Given the description of an element on the screen output the (x, y) to click on. 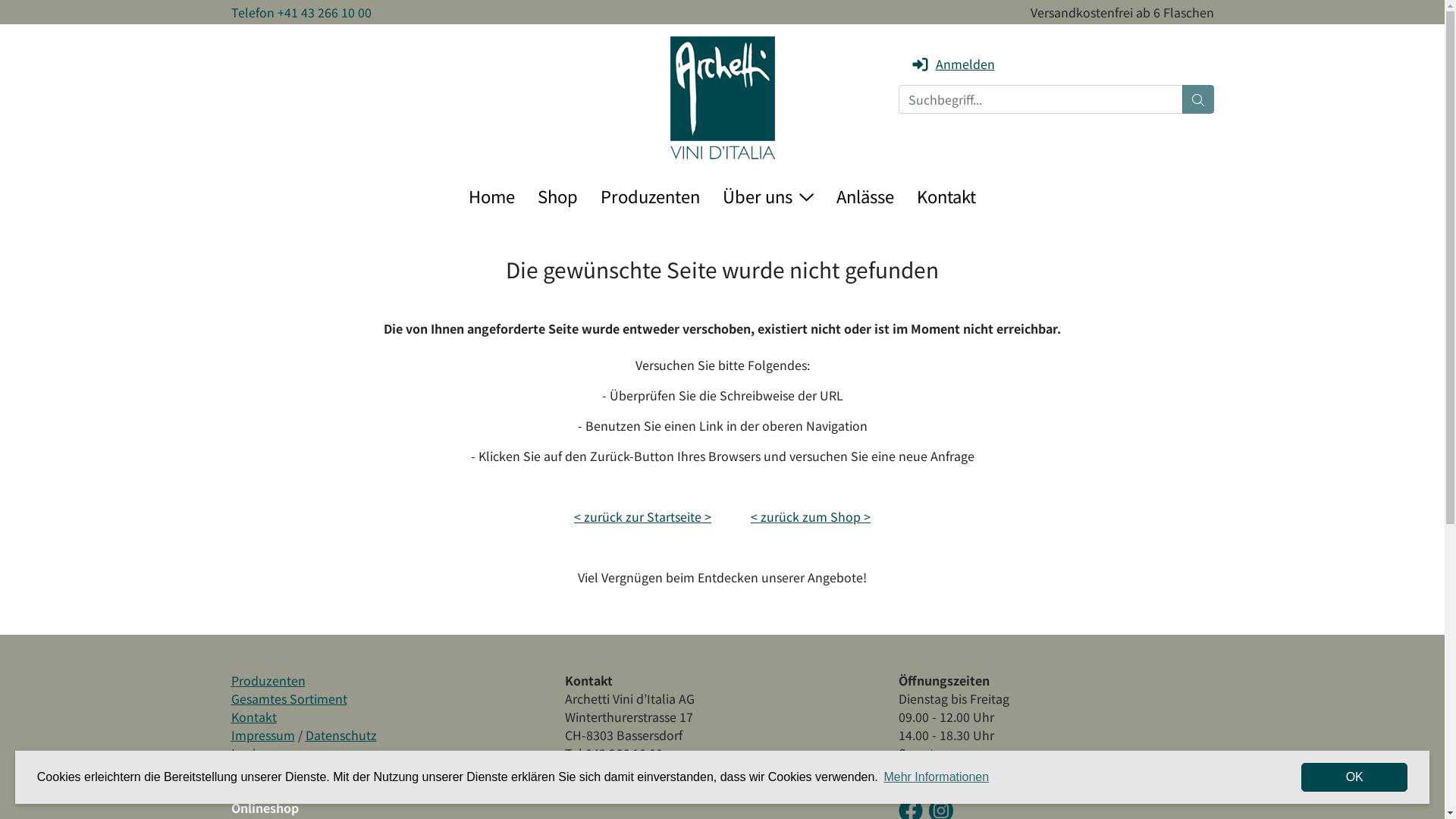
Kontakt Element type: text (253, 716)
OK Element type: text (1354, 776)
Gesamtes Sortiment Element type: text (288, 698)
Kontakt Element type: text (946, 195)
Datenschutz Element type: text (340, 734)
Mehr Informationen Element type: text (936, 776)
Login Element type: text (246, 752)
Shop Element type: text (557, 195)
Telefon +41 43 266 10 00 Element type: text (300, 12)
Produzenten Element type: text (267, 680)
Anmelden Element type: text (952, 63)
AGB's Element type: text (246, 771)
Impressum Element type: text (262, 734)
Home Element type: text (491, 195)
info@archetti.ch Element type: text (611, 771)
Produzenten Element type: text (650, 195)
